Given the description of an element on the screen output the (x, y) to click on. 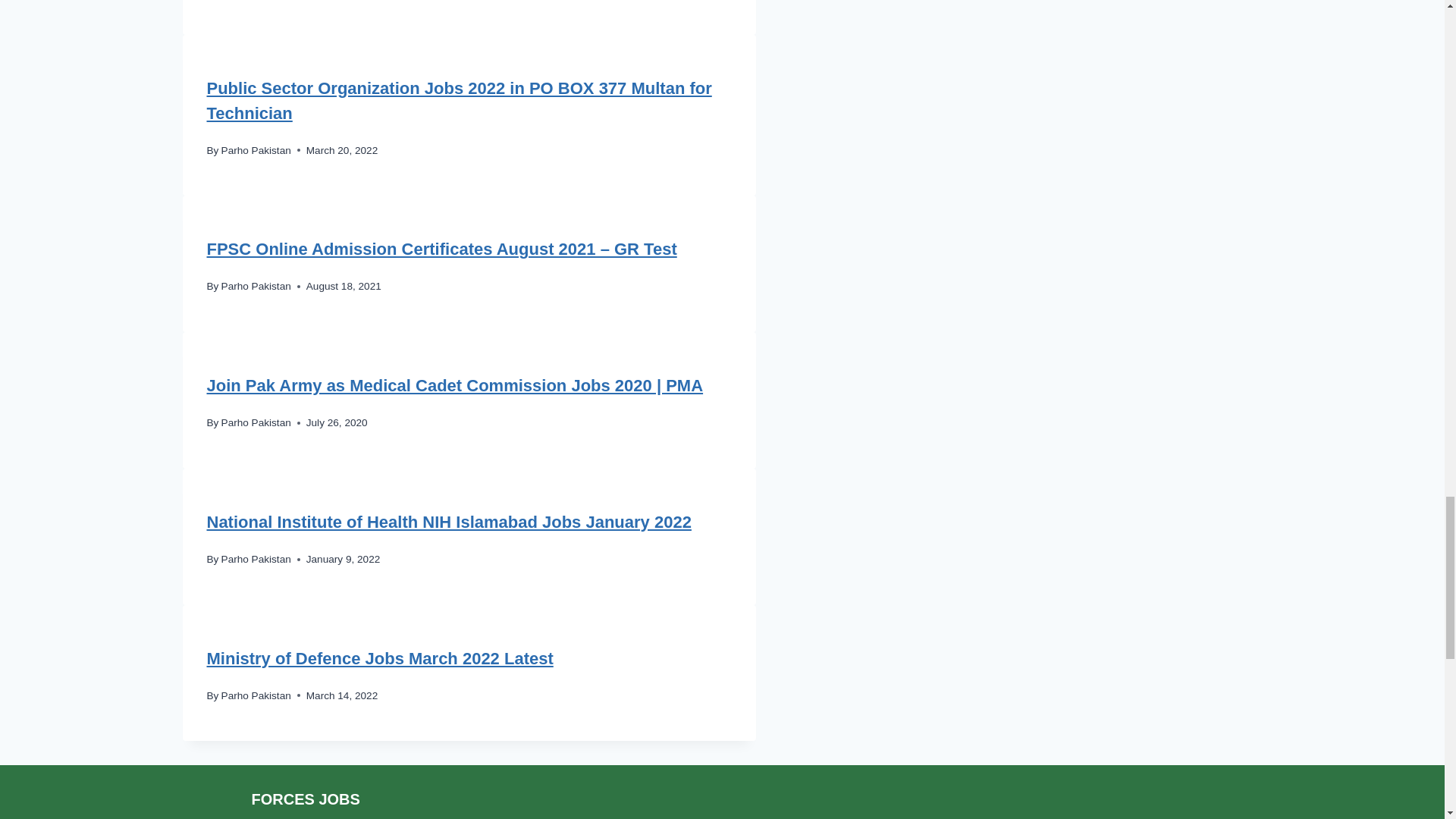
Parho Pakistan (256, 285)
Parho Pakistan (256, 422)
Parho Pakistan (256, 150)
